Given the description of an element on the screen output the (x, y) to click on. 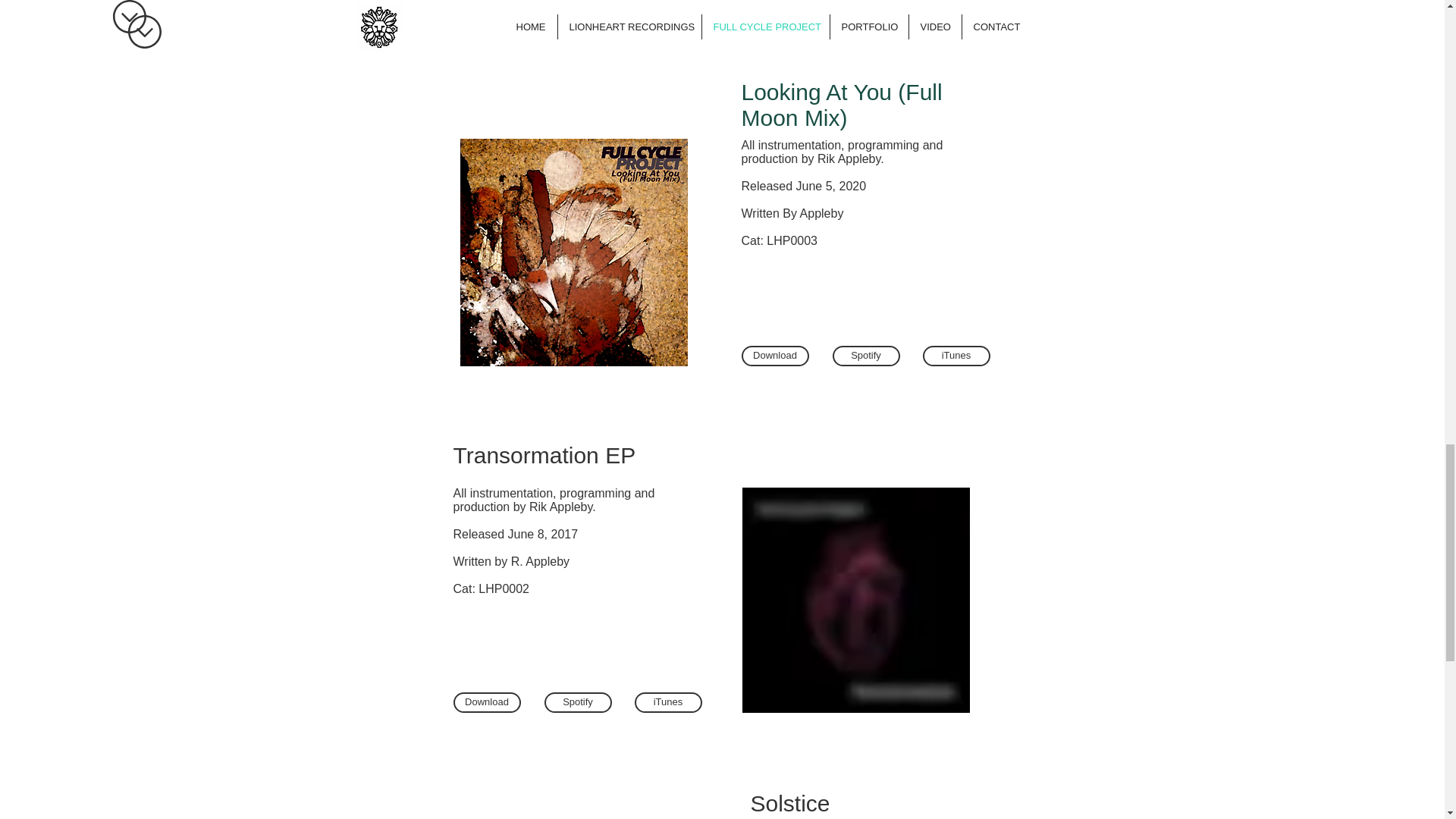
Download (493, 7)
Spotify (577, 702)
Spotify (583, 7)
Spotify (865, 355)
Download (775, 355)
iTunes (955, 355)
iTunes (675, 7)
iTunes (667, 702)
Download (486, 702)
